Given the description of an element on the screen output the (x, y) to click on. 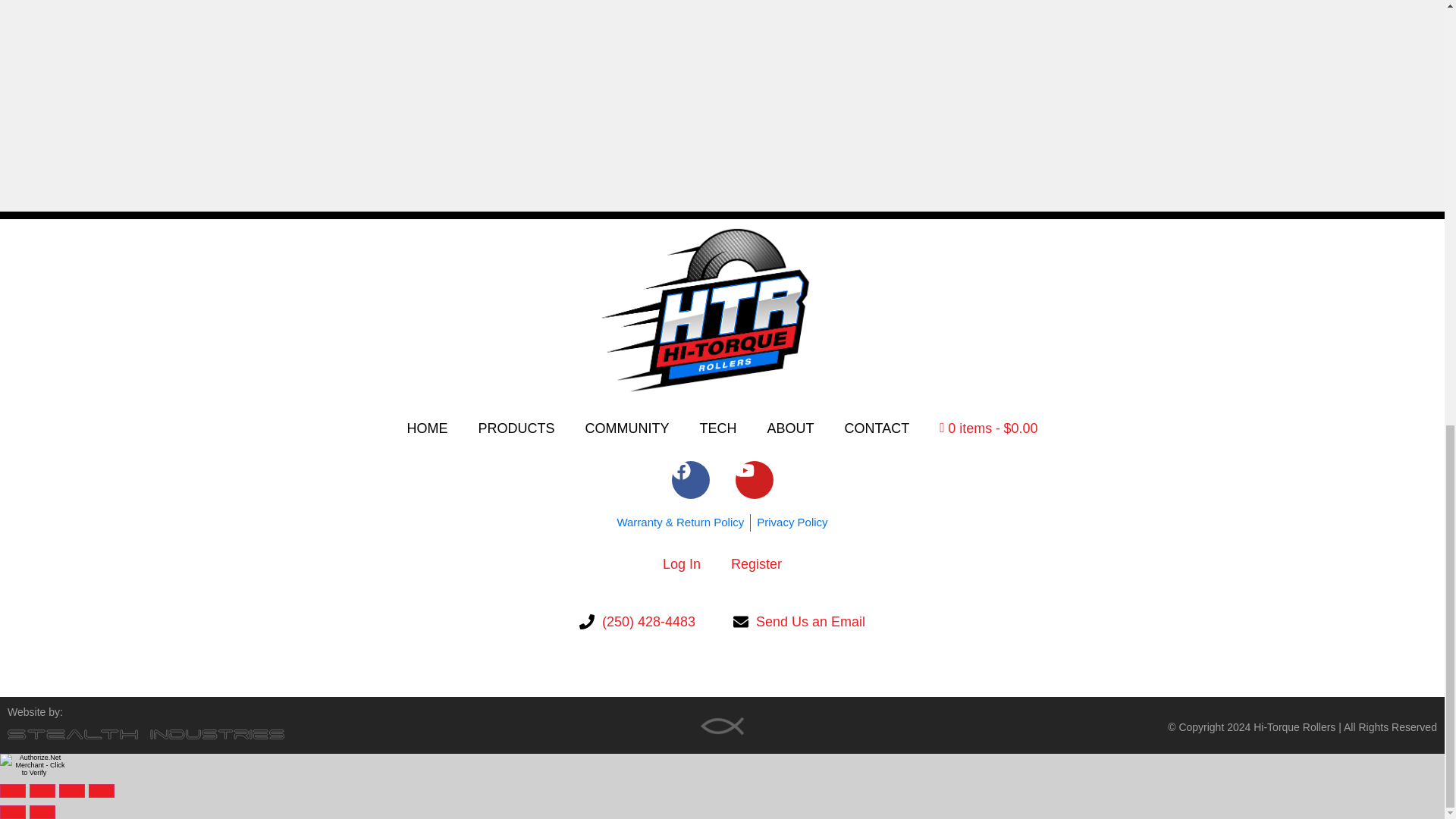
Start shopping (988, 427)
